Given the description of an element on the screen output the (x, y) to click on. 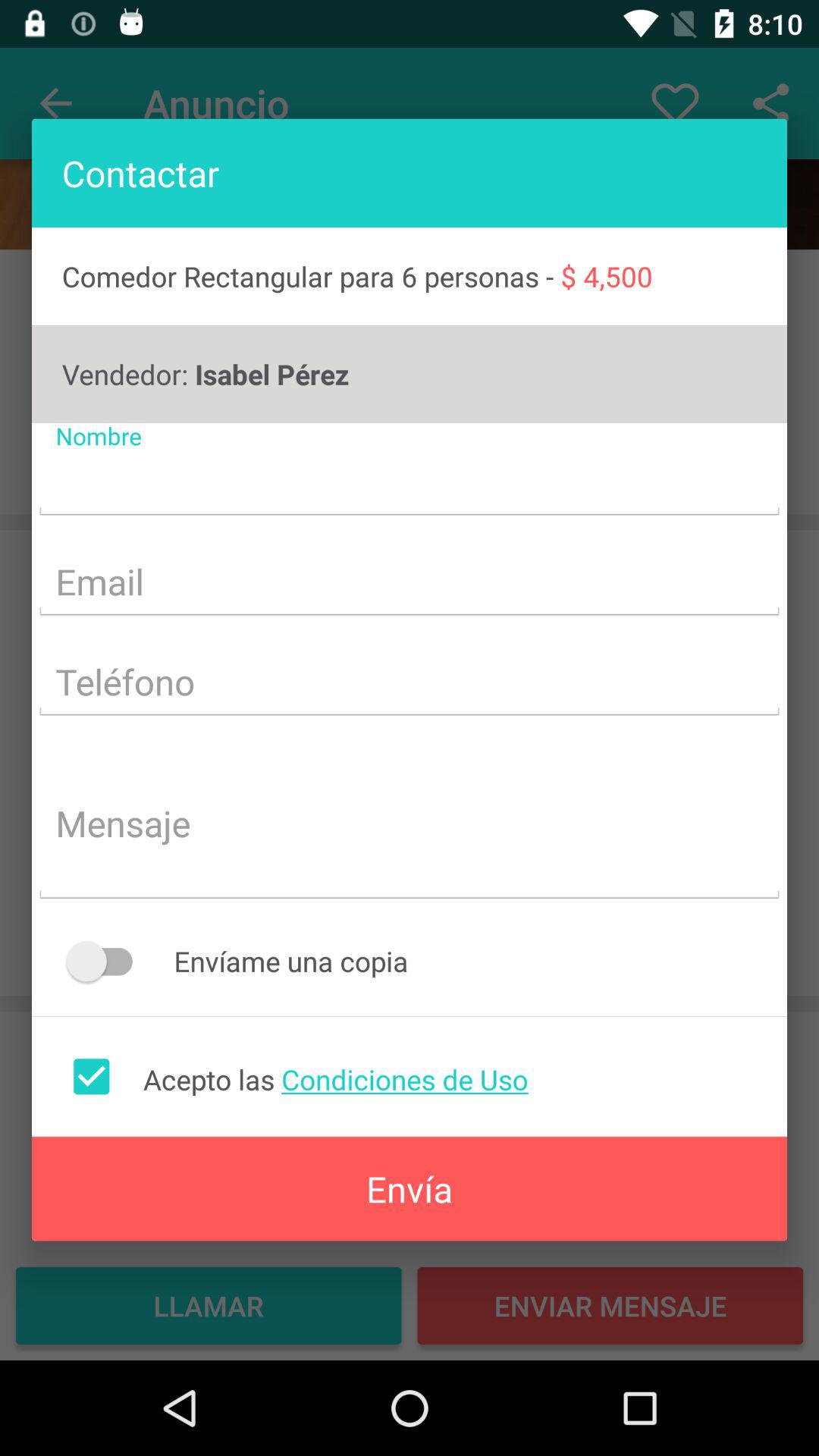
enter a mensaje (409, 825)
